Given the description of an element on the screen output the (x, y) to click on. 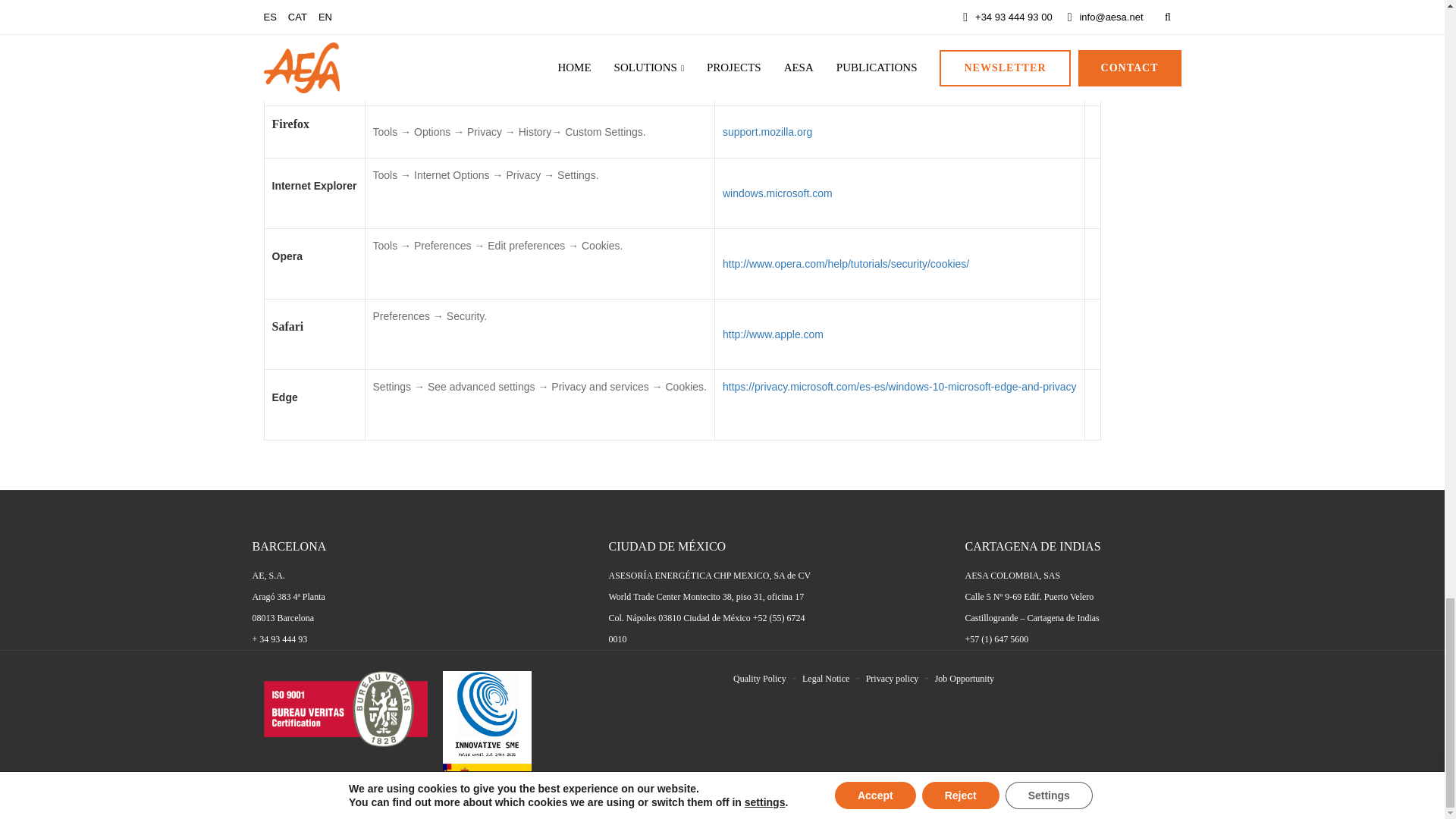
support.mozilla.org (767, 132)
Job Opportunity (964, 678)
windows.microsoft.com (777, 193)
support.google.com (768, 51)
Legal Notice (825, 678)
Quality Policy (759, 678)
Privacy policy (892, 678)
